Given the description of an element on the screen output the (x, y) to click on. 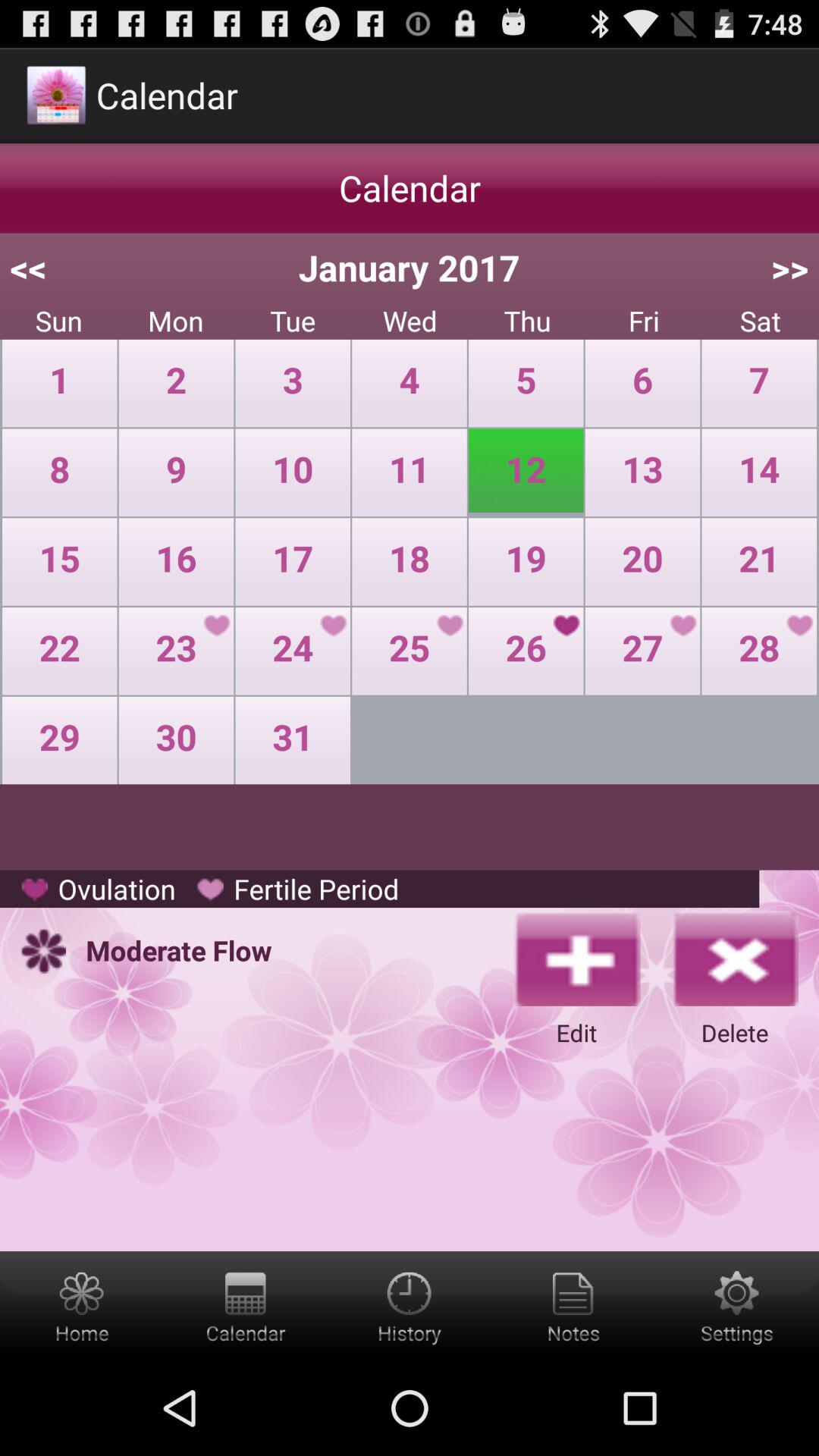
settings (573, 1305)
